Given the description of an element on the screen output the (x, y) to click on. 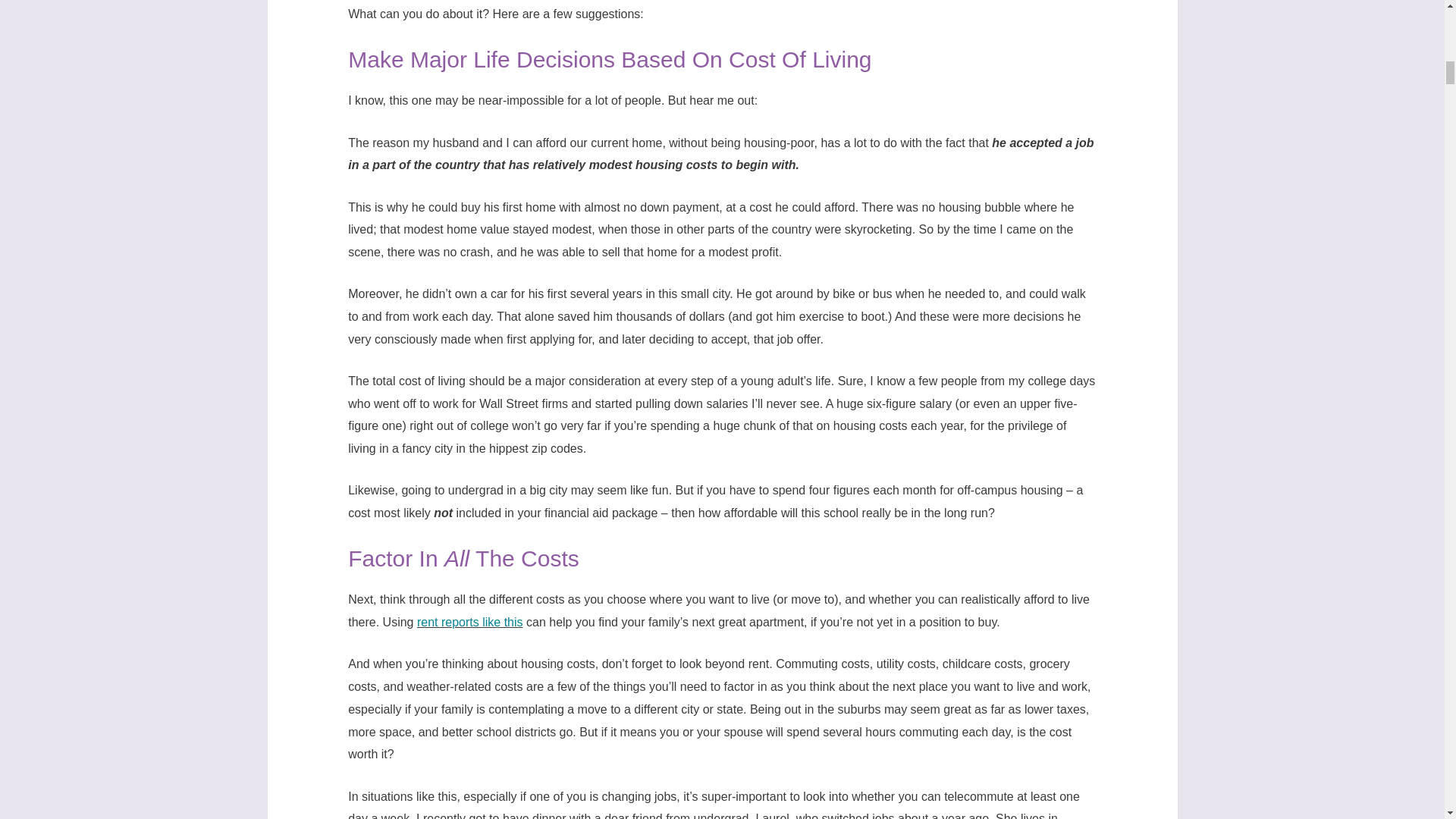
rent reports like this (469, 621)
